Given the description of an element on the screen output the (x, y) to click on. 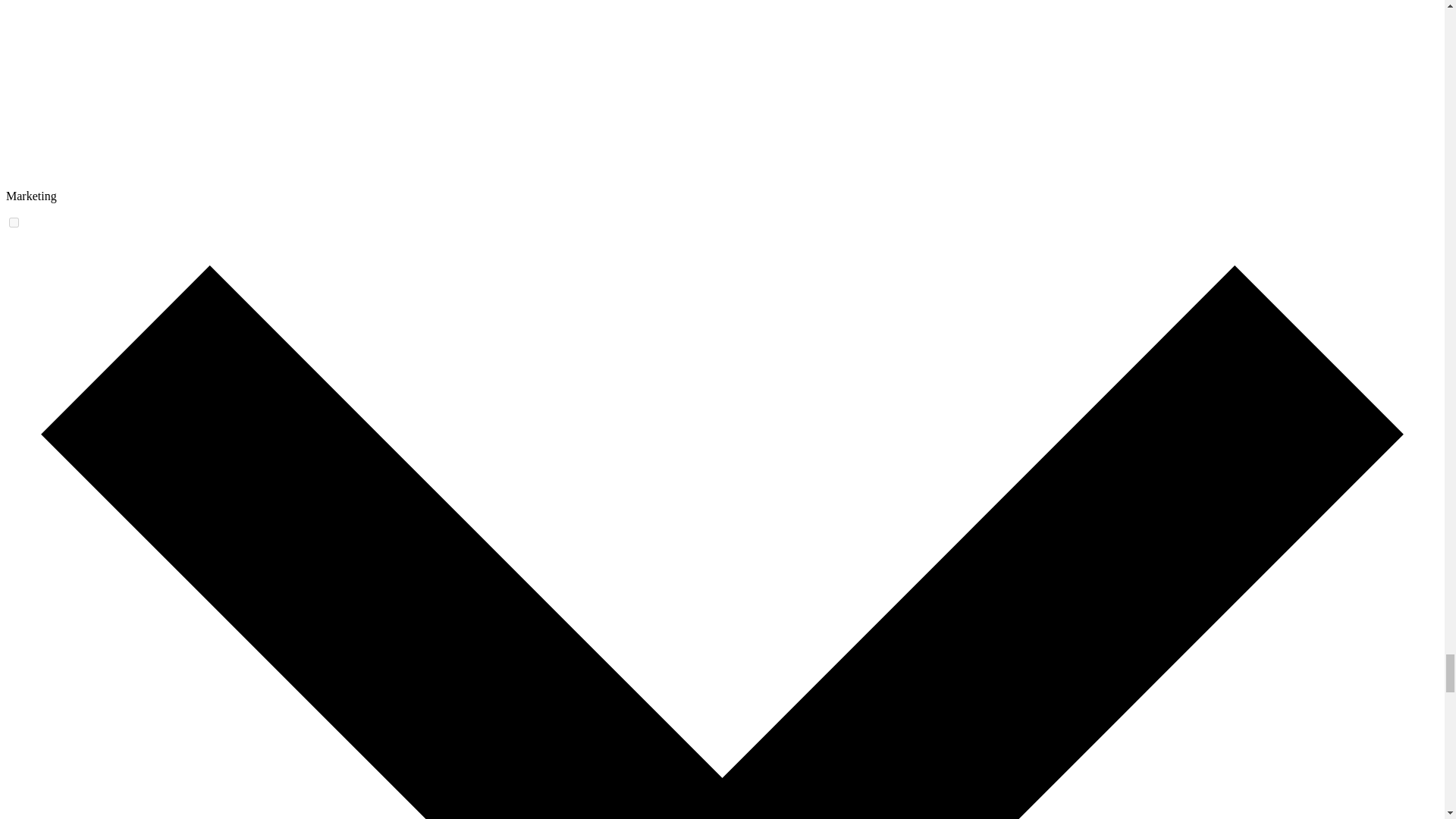
on (13, 222)
